Given the description of an element on the screen output the (x, y) to click on. 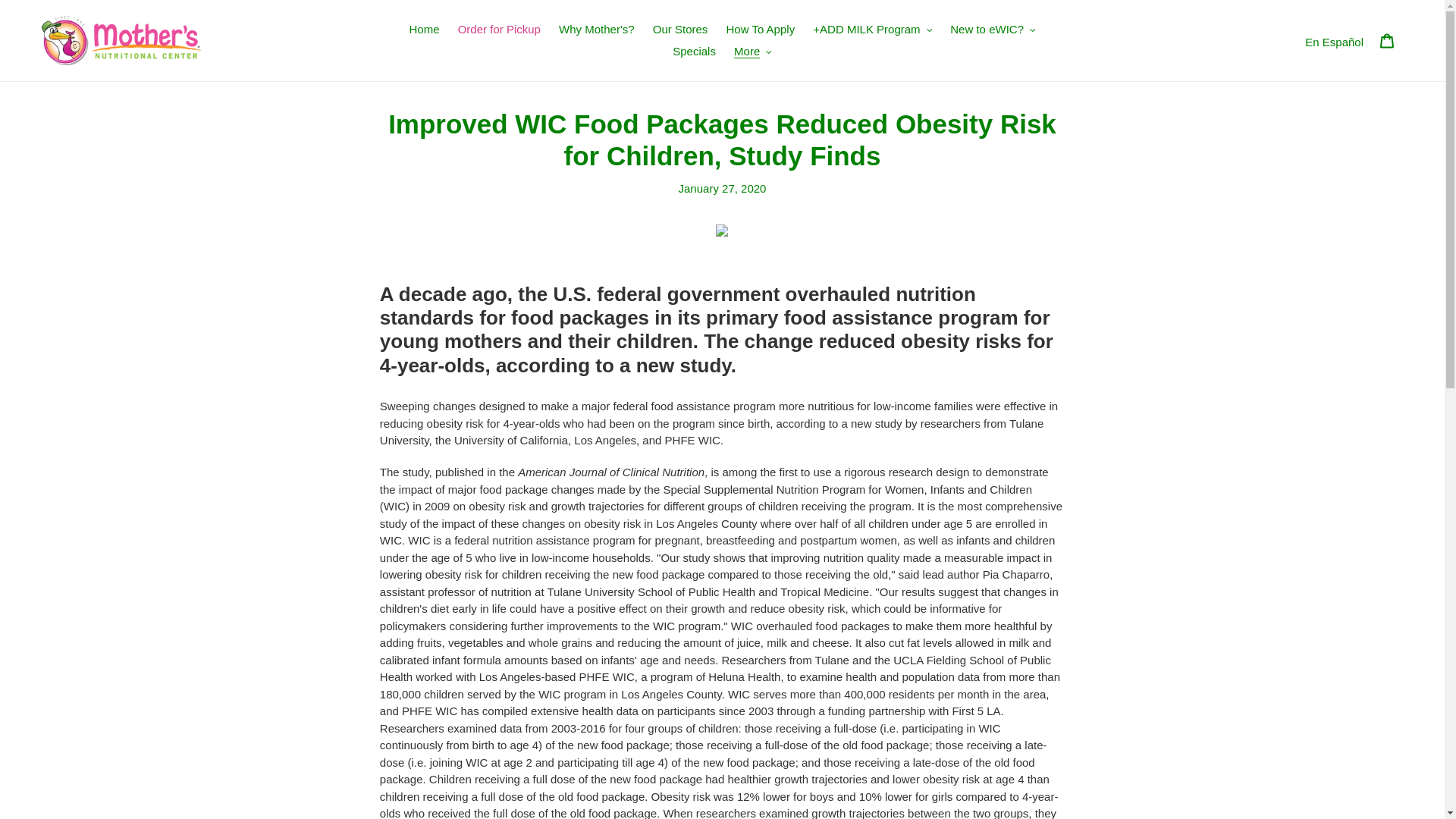
Specials (694, 51)
New to eWIC? (992, 29)
Why Mother's? (596, 29)
Order for Pickup (498, 29)
How To Apply (761, 29)
Our Stores (680, 29)
Cart (1387, 40)
More (752, 51)
Home (423, 29)
